Given the description of an element on the screen output the (x, y) to click on. 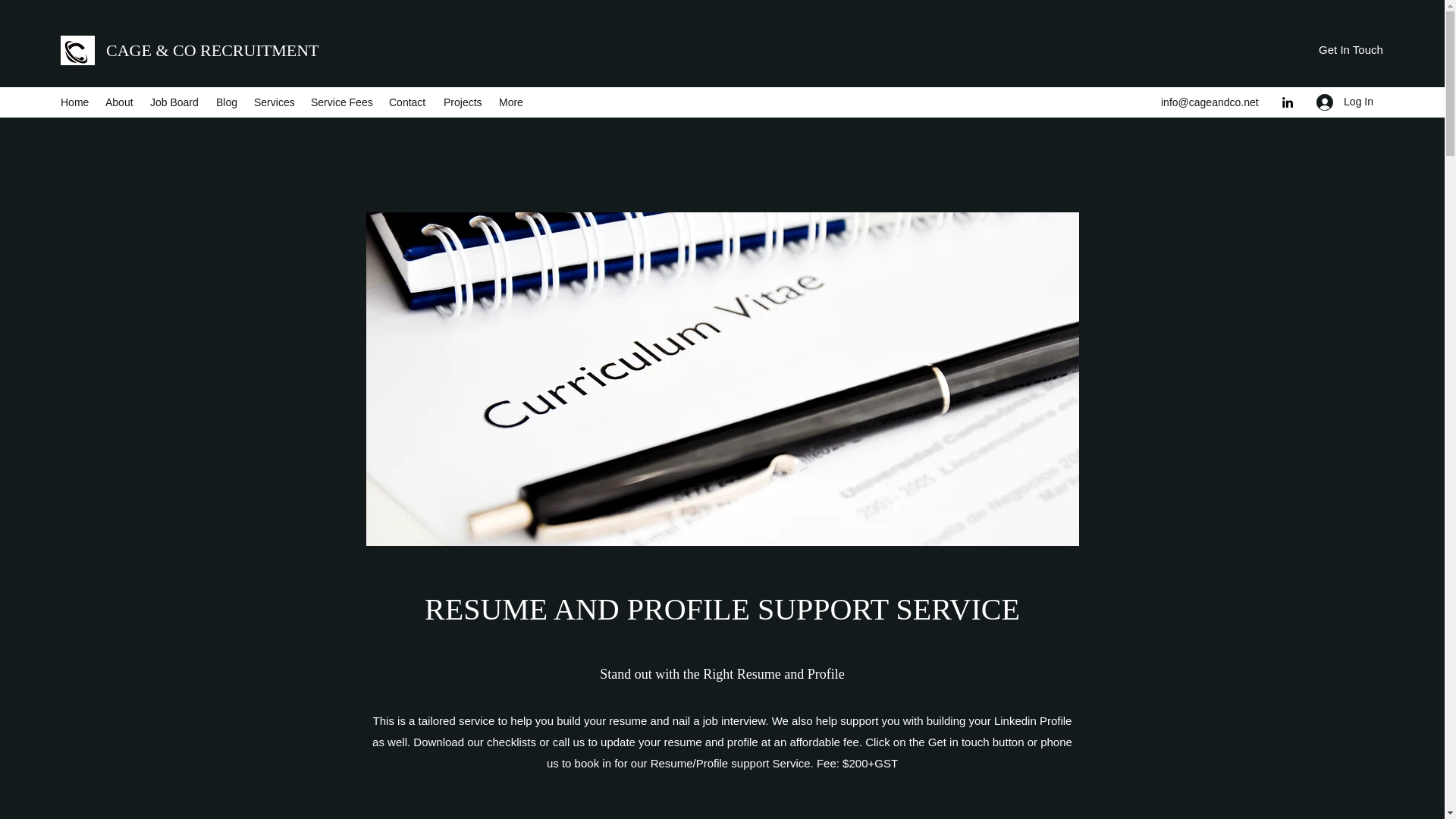
Home (74, 101)
Services (274, 101)
Service Fees (341, 101)
Get In Touch (1350, 49)
Blog (227, 101)
Contact (408, 101)
About (119, 101)
Job Board (175, 101)
Log In (1345, 101)
Projects (463, 101)
